Given the description of an element on the screen output the (x, y) to click on. 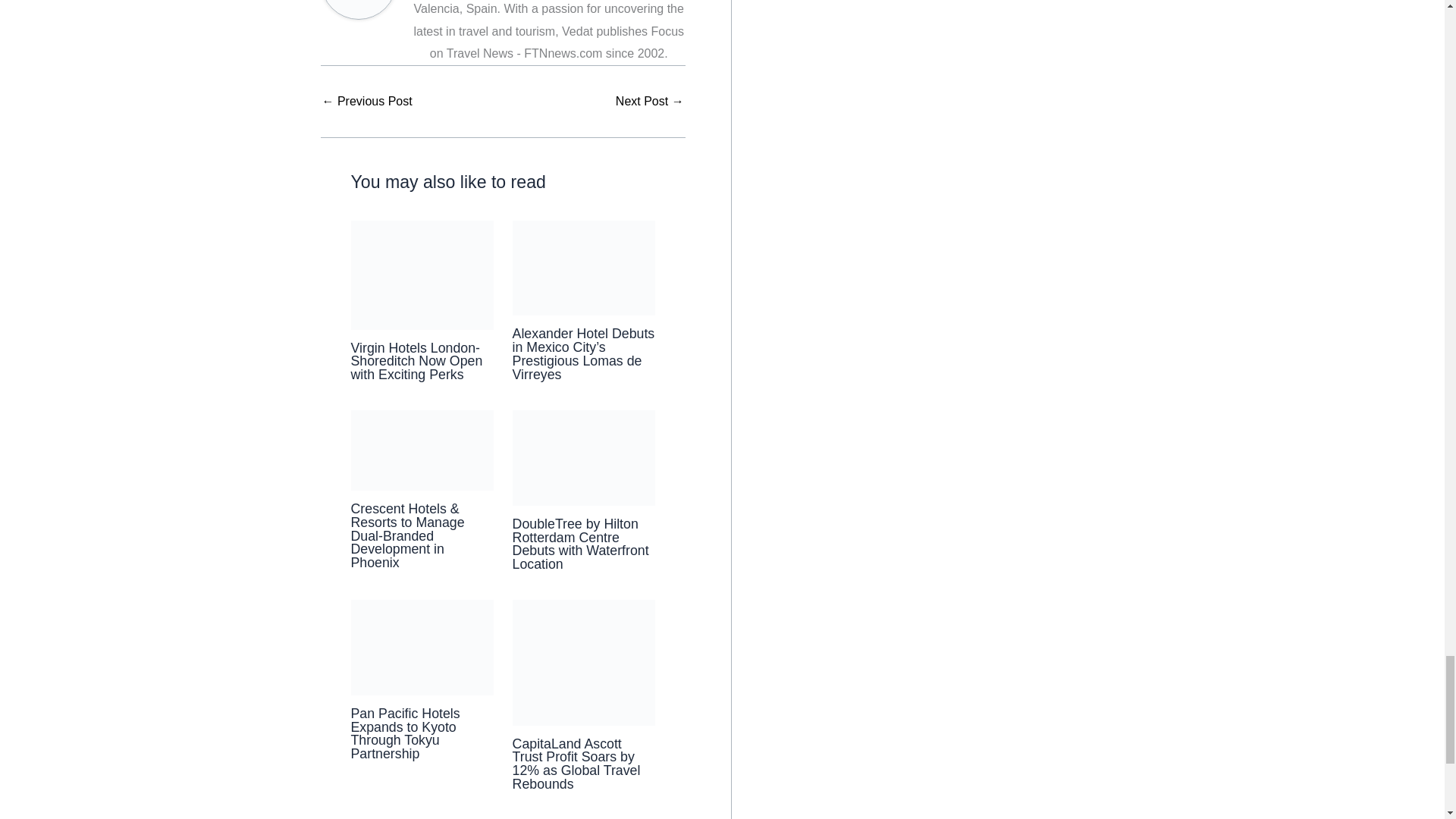
How to Choose a Casino Site and What to Pay Attention to (649, 101)
